Given the description of an element on the screen output the (x, y) to click on. 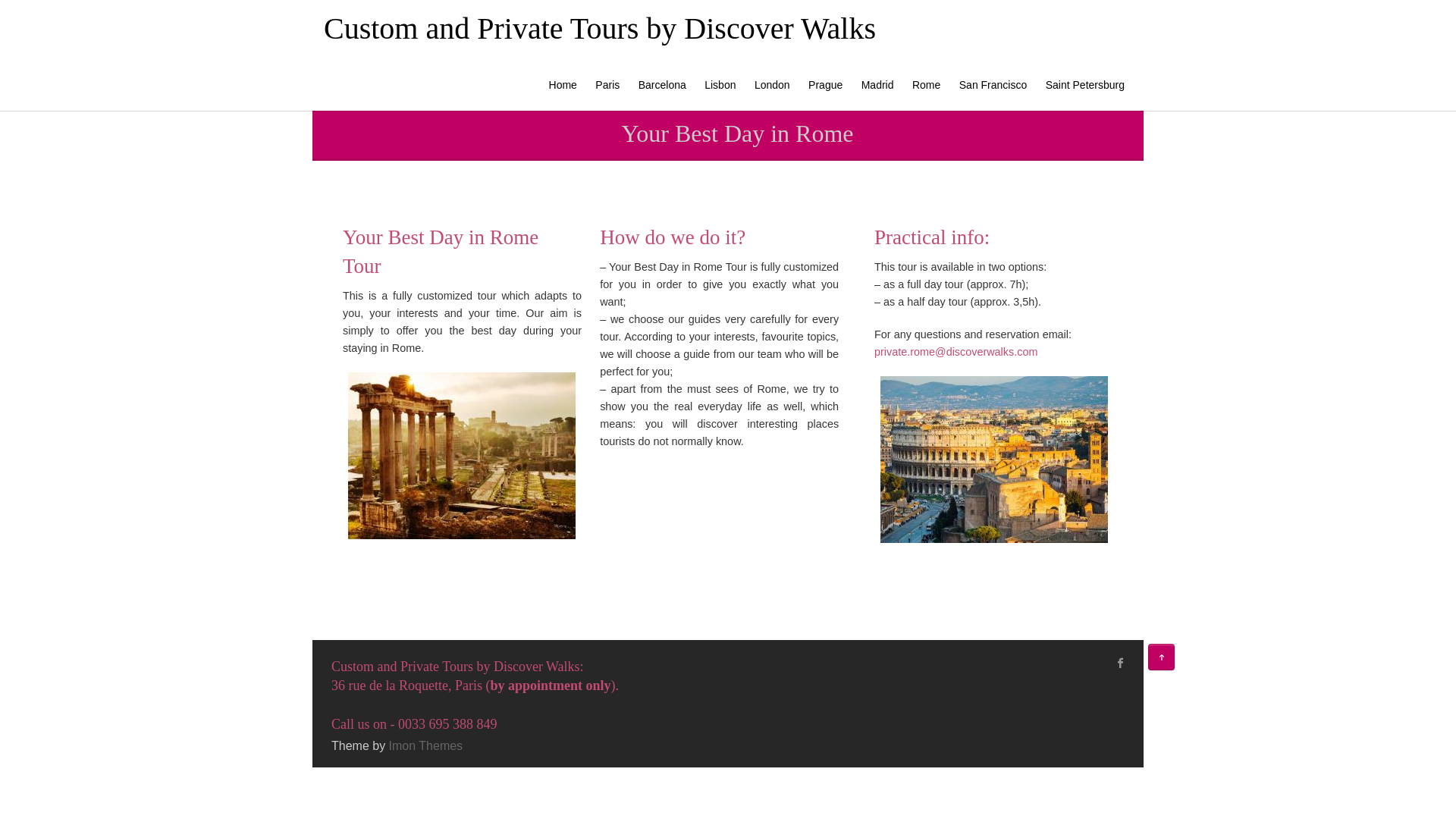
London (772, 84)
Lisbon (719, 84)
Custom and Private Tours by Discover Walks (599, 28)
Home (562, 84)
Paris (607, 84)
Barcelona (662, 84)
facebook (1120, 662)
Madrid (877, 84)
Imon Themes (425, 745)
